Given the description of an element on the screen output the (x, y) to click on. 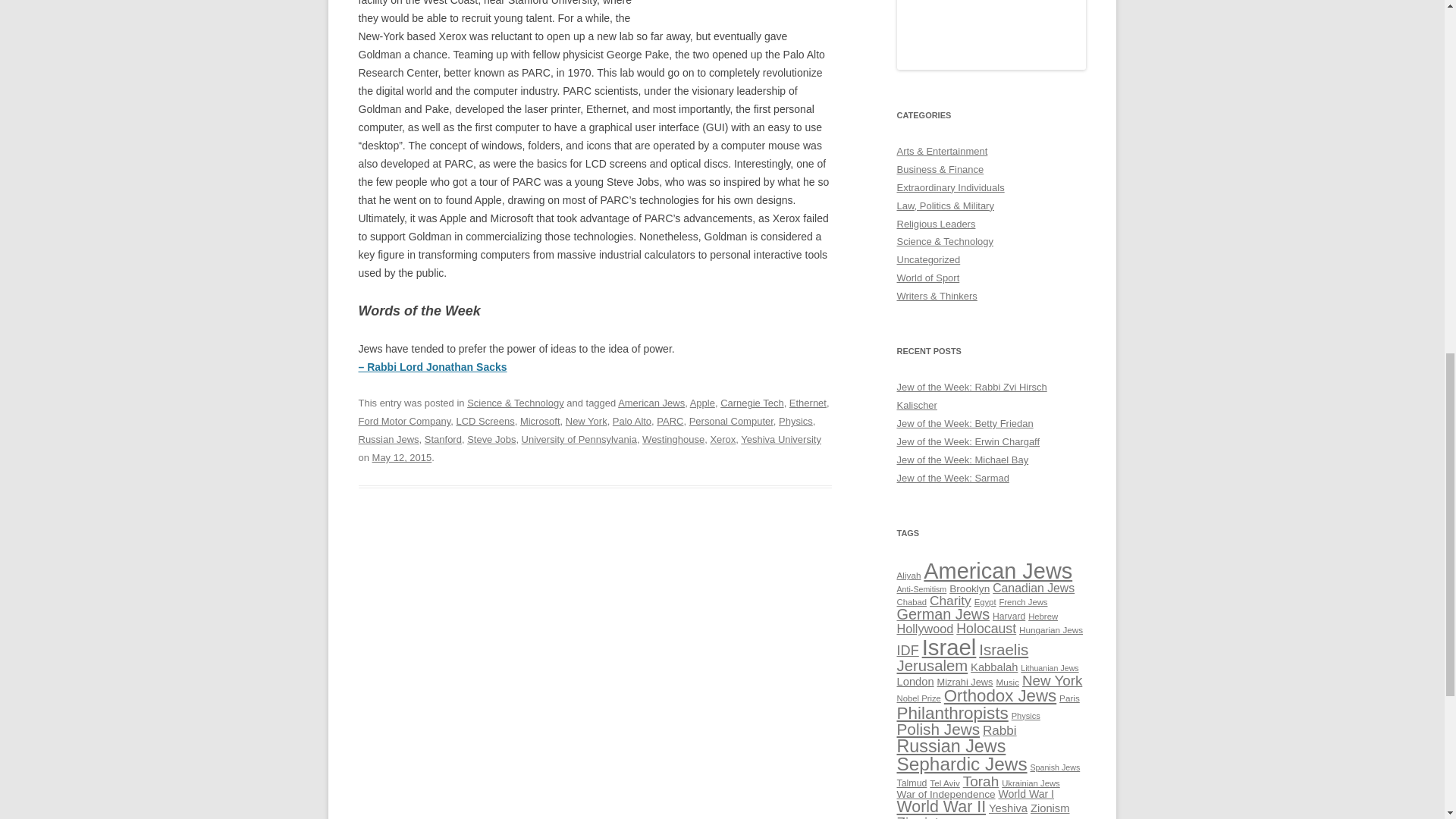
LCD Screens (484, 420)
Stanford (443, 439)
Russian Jews (388, 439)
Steve Jobs (491, 439)
Palo Alto (631, 420)
Apple (702, 402)
American Jews (650, 402)
Religious Leaders (935, 224)
Ethernet (808, 402)
New York (586, 420)
